Given the description of an element on the screen output the (x, y) to click on. 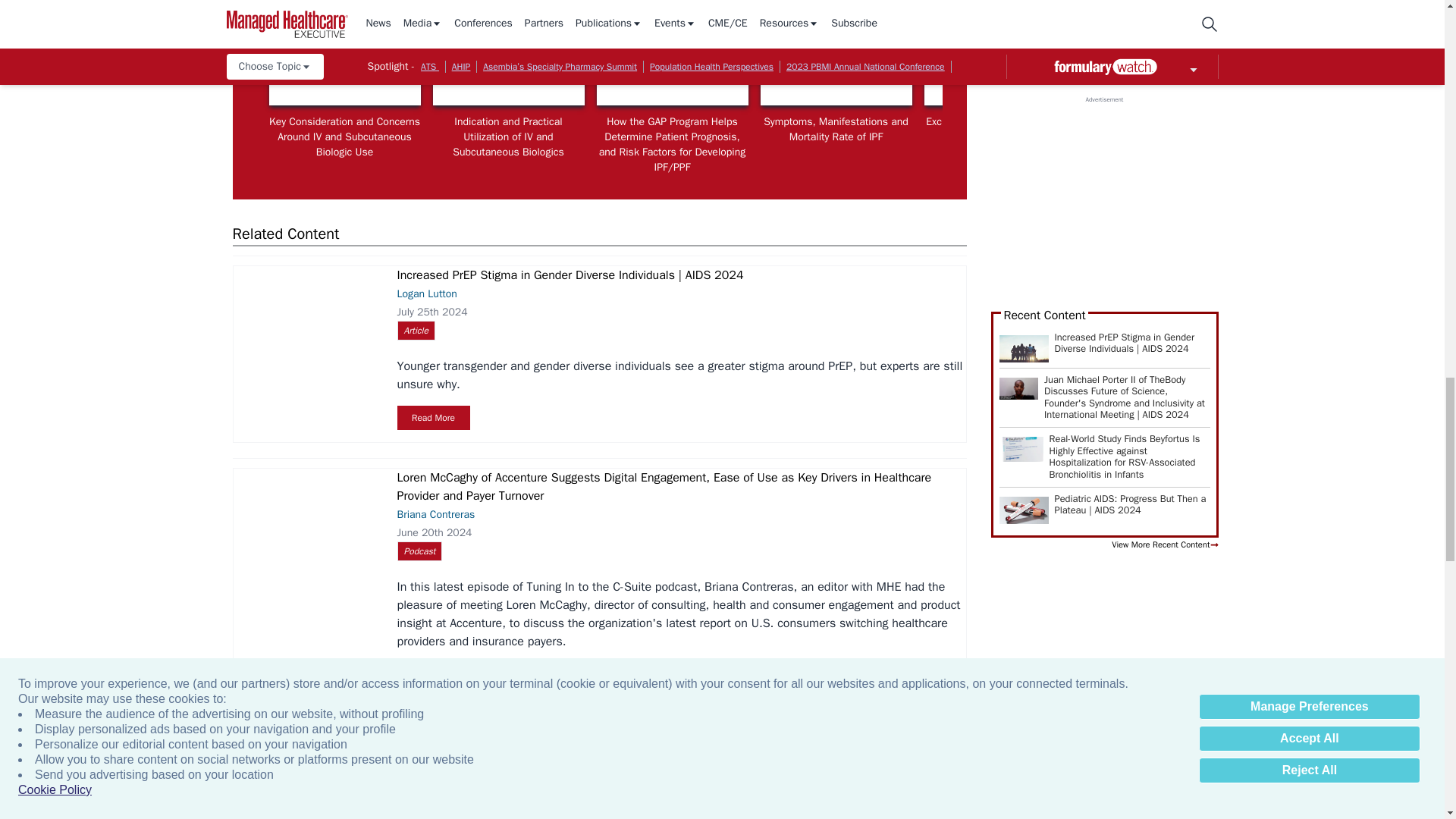
Lawrence Eichenfield, MD, an expert on atopic dermatitis (999, 62)
Symptoms, Manifestations and Mortality Rate of IPF (835, 62)
Jill Zouzoulas, MD, FACR, an expert on biologic therapies (343, 62)
Lawrence Eichenfield, MD, an expert on atopic dermatitis (1326, 62)
